Given the description of an element on the screen output the (x, y) to click on. 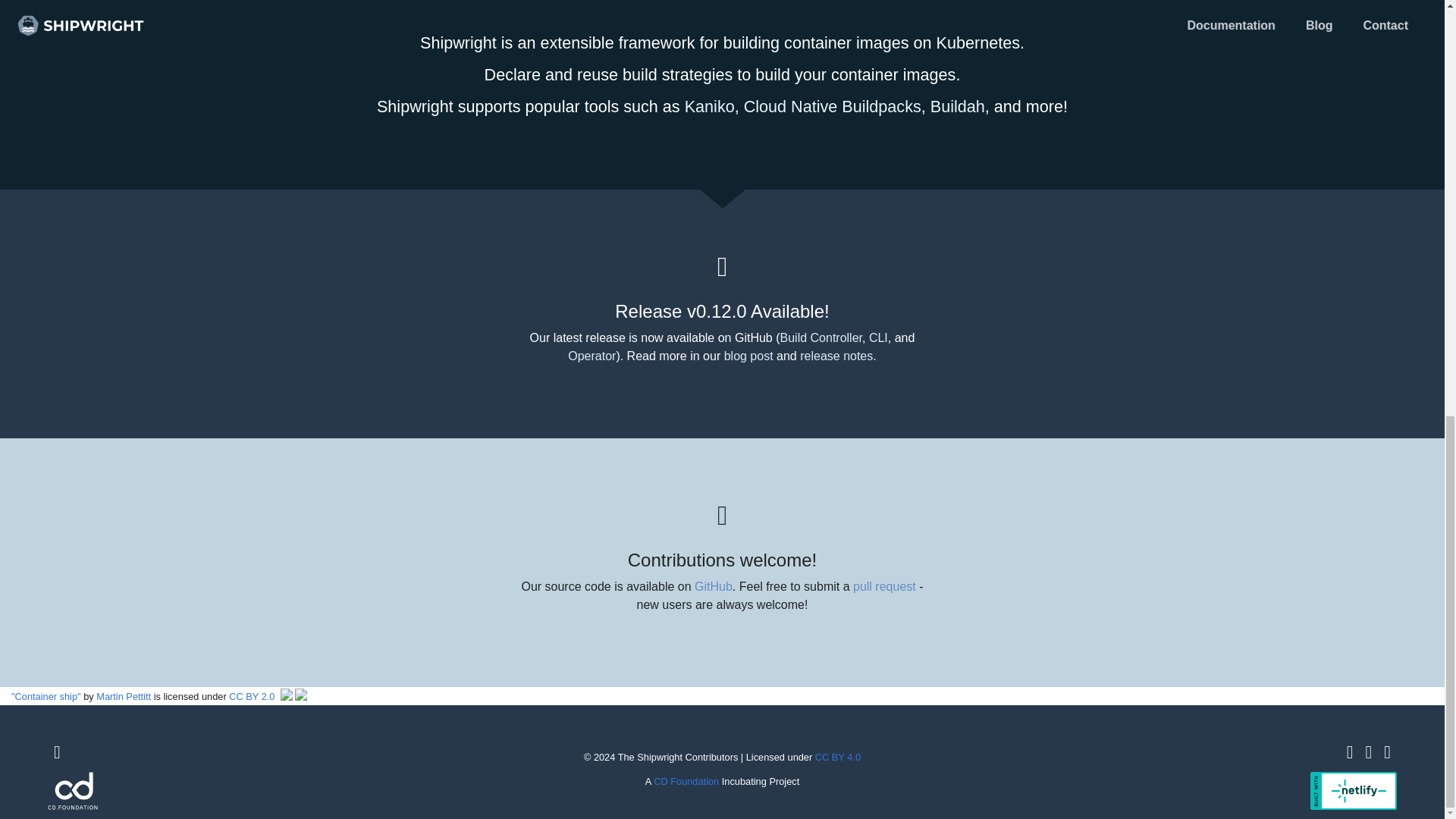
Operator (591, 355)
CC BY 2.0 (251, 696)
CD Foundation (686, 781)
Cloud Native Buildpacks (832, 106)
Slack (1368, 752)
Developer mailing list (1387, 752)
CC BY 4.0 (837, 756)
Build Controller (819, 337)
User mailing list (57, 752)
"Container ship" (46, 696)
Buildah (957, 106)
GitHub (713, 585)
GitHub (1350, 752)
release notes (835, 355)
Kaniko (709, 106)
